Given the description of an element on the screen output the (x, y) to click on. 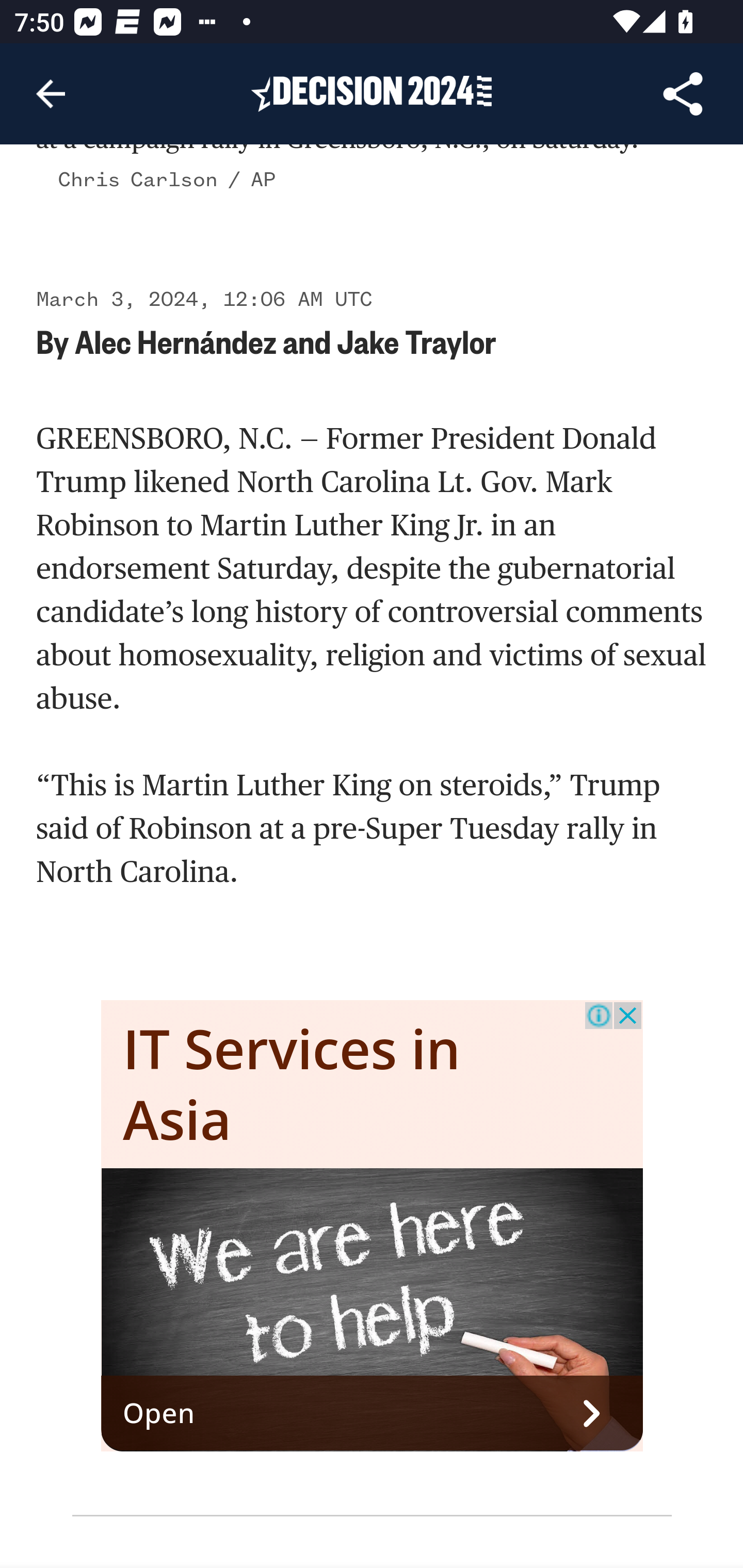
Navigate up (50, 93)
Share Article, button (683, 94)
Header, Decision 2024 (371, 93)
IT Services in Asia IT Services in Asia (292, 1084)
Open (372, 1414)
